Given the description of an element on the screen output the (x, y) to click on. 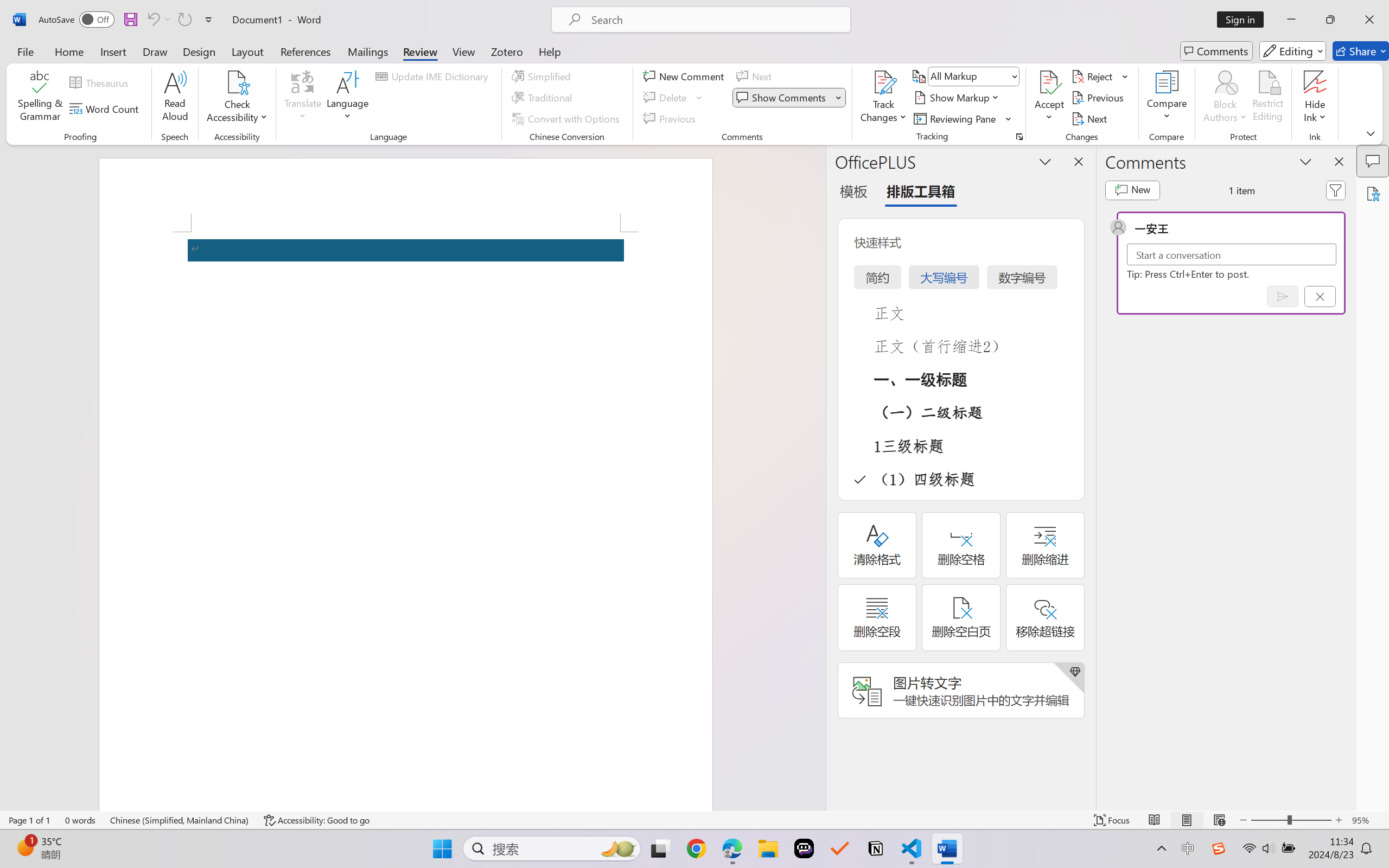
Track Changes (883, 97)
